Given the description of an element on the screen output the (x, y) to click on. 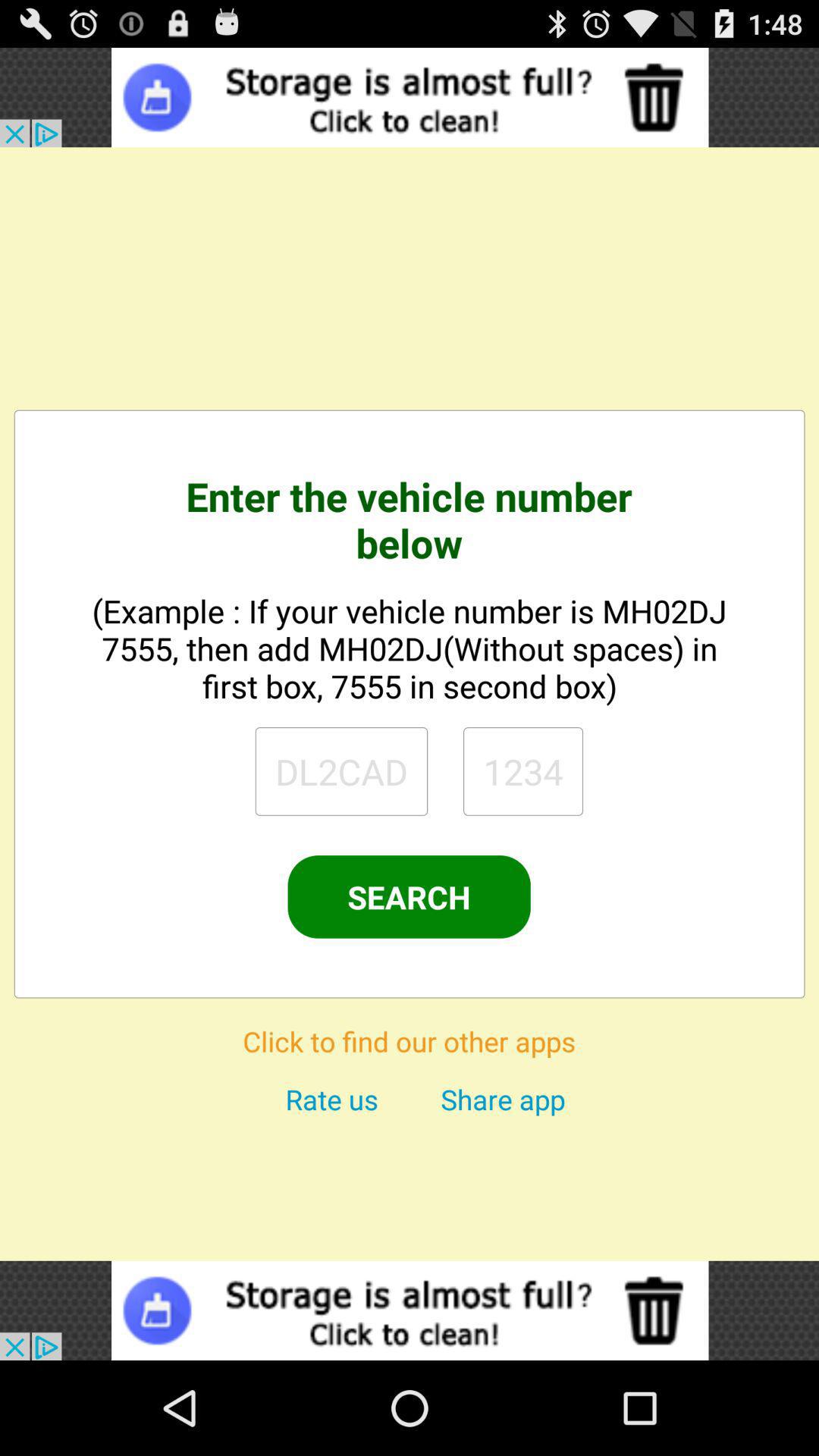
clean the option (409, 97)
